Given the description of an element on the screen output the (x, y) to click on. 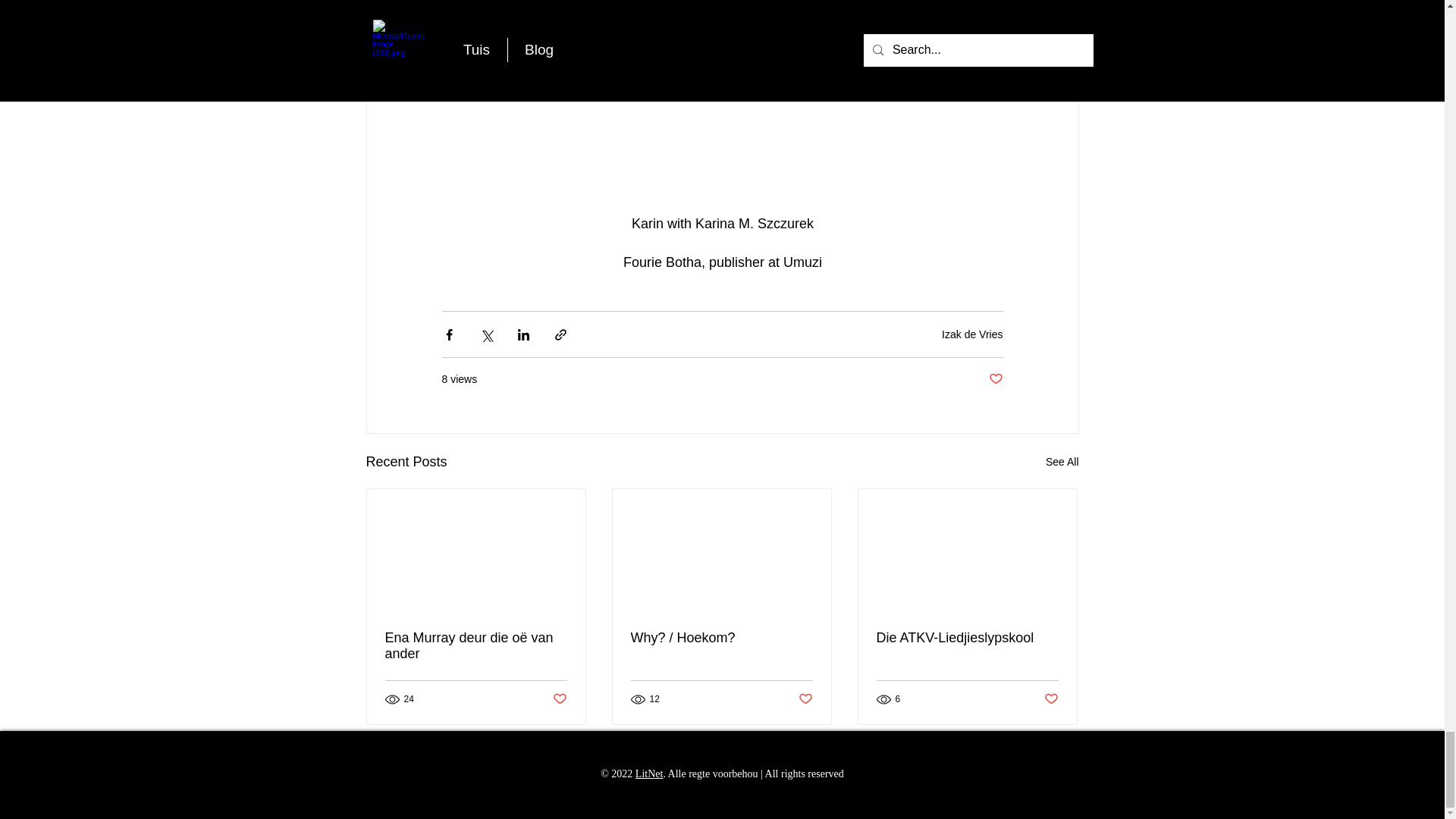
Post not marked as liked (558, 699)
See All (1061, 462)
Izak de Vries (972, 334)
Die ATKV-Liedjieslypskool (967, 637)
Post not marked as liked (804, 699)
LitNet (648, 773)
Post not marked as liked (1050, 699)
Post not marked as liked (995, 379)
